Given the description of an element on the screen output the (x, y) to click on. 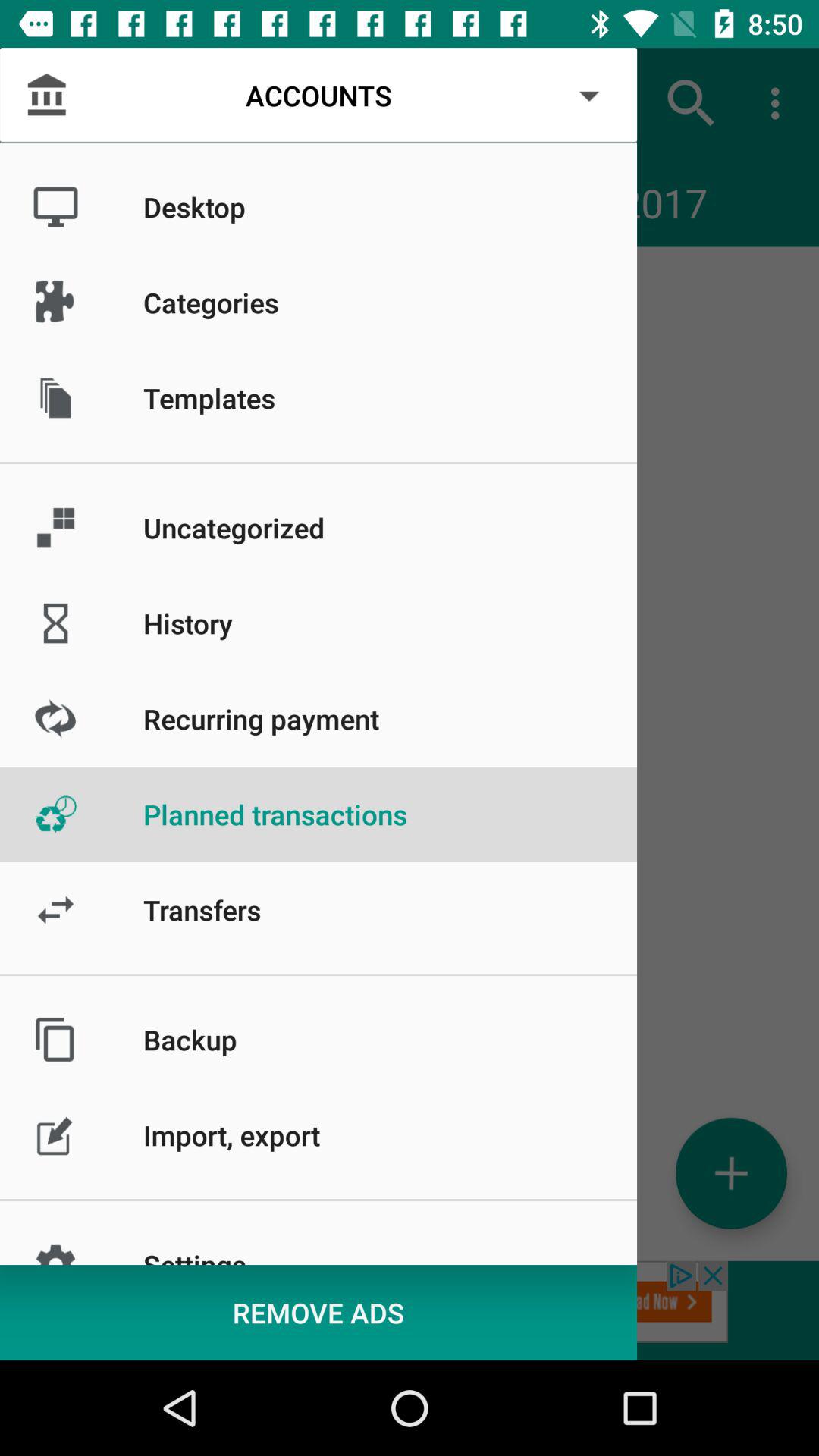
click the tick (731, 1173)
